Given the description of an element on the screen output the (x, y) to click on. 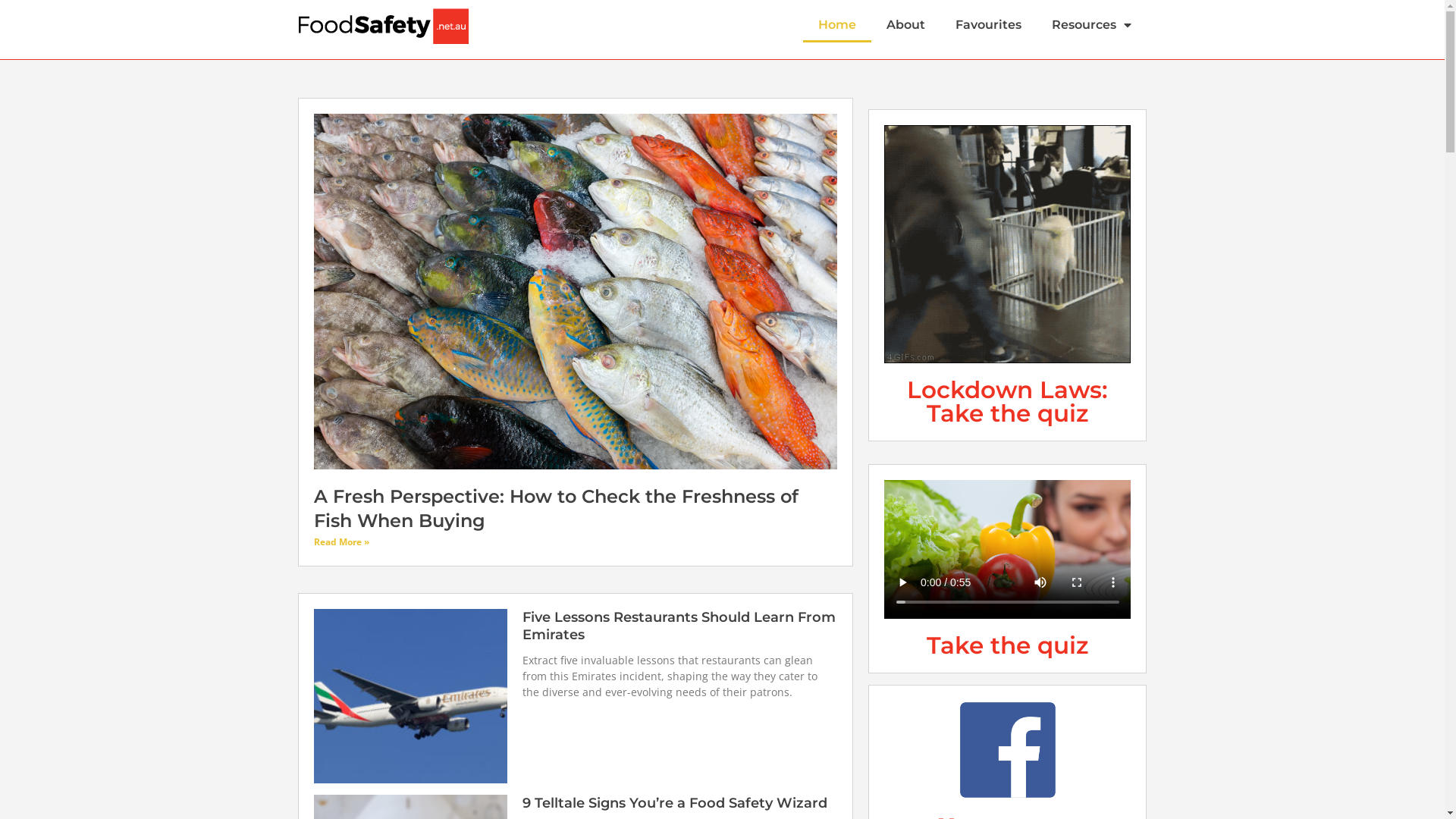
Favourites Element type: text (988, 24)
Lockdown Laws: Take the quiz Element type: text (1006, 401)
About Element type: text (905, 24)
Resources Element type: text (1091, 24)
Take the quiz Element type: text (1007, 644)
Home Element type: text (837, 24)
Five Lessons Restaurants Should Learn From Emirates Element type: text (678, 625)
